Given the description of an element on the screen output the (x, y) to click on. 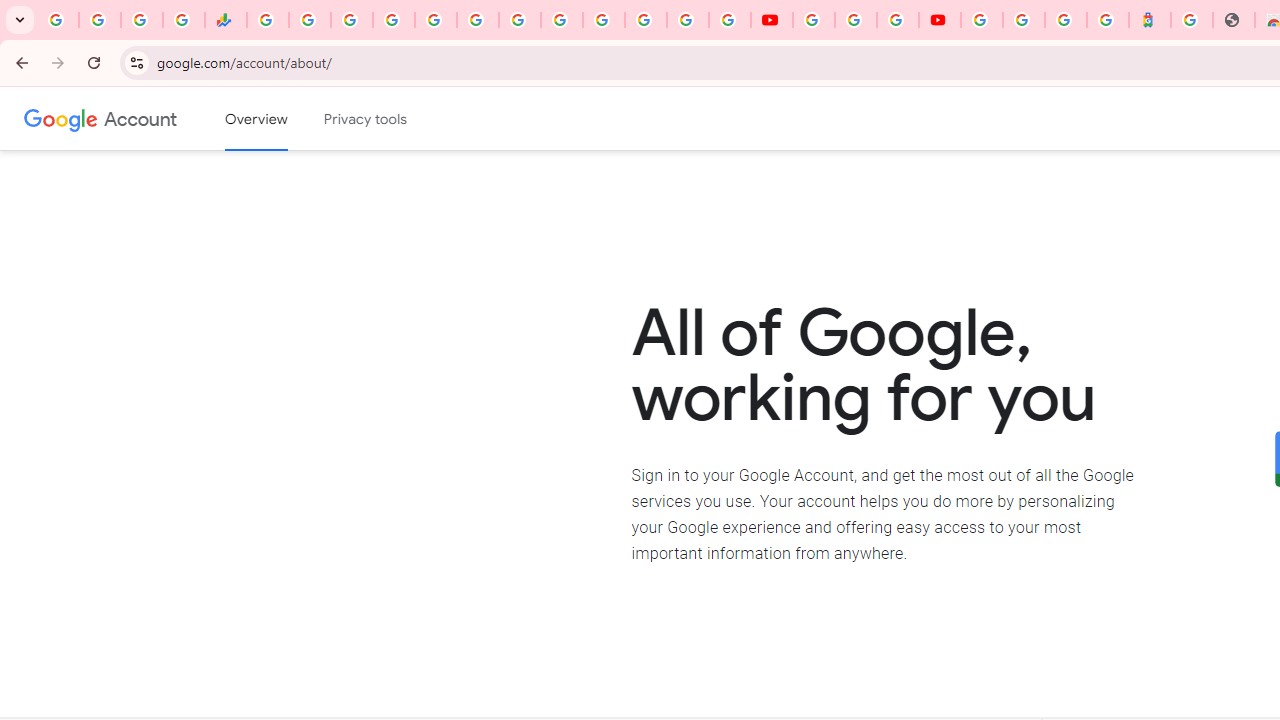
Skip to Content (285, 115)
Content Creator Programs & Opportunities - YouTube Creators (940, 20)
Google Account Help (855, 20)
YouTube (772, 20)
Android TV Policies and Guidelines - Transparency Center (520, 20)
Sign in - Google Accounts (1023, 20)
Google Workspace Admin Community (58, 20)
